Given the description of an element on the screen output the (x, y) to click on. 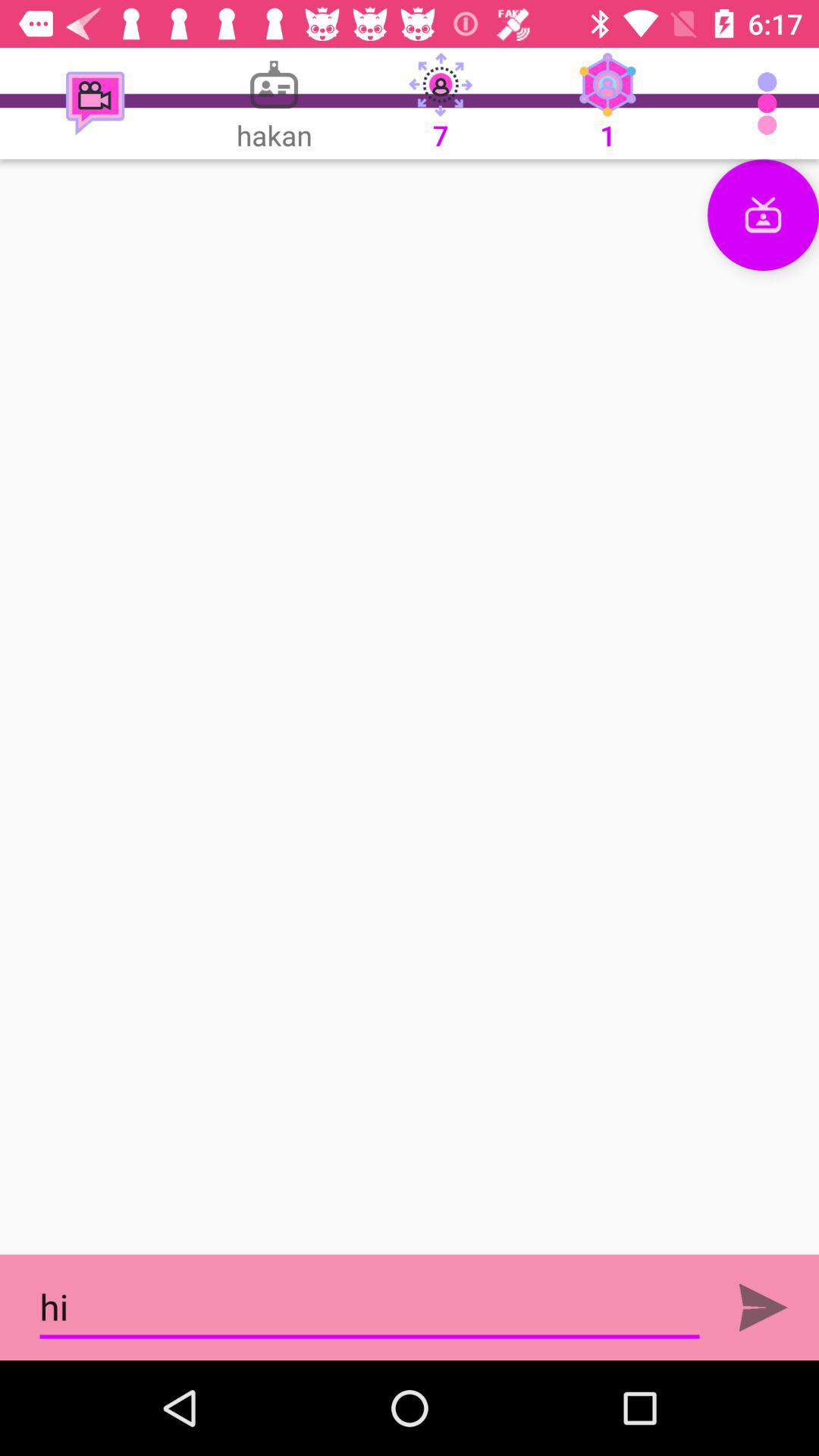
bel button (763, 1307)
